Given the description of an element on the screen output the (x, y) to click on. 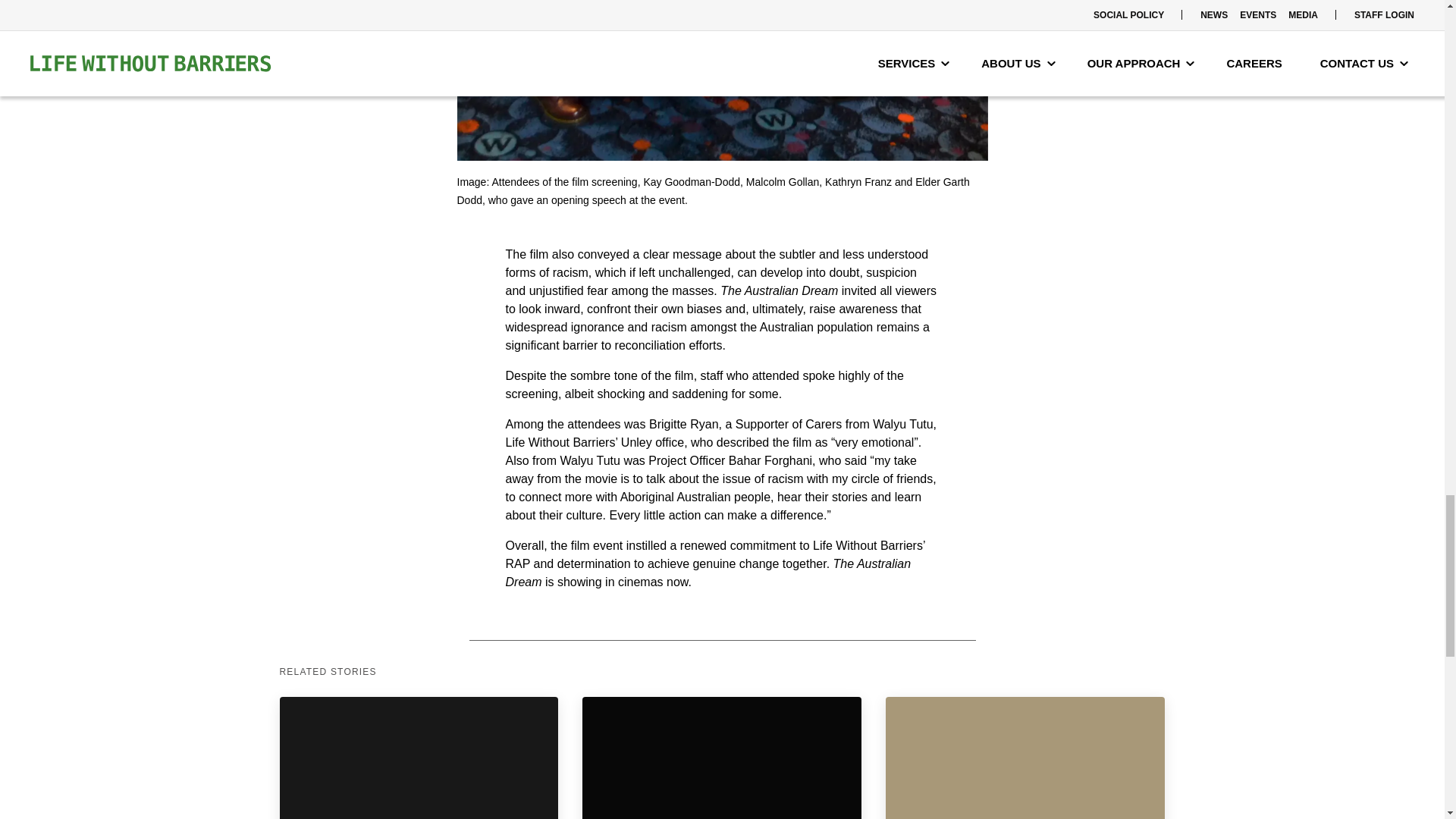
Celebrate NAIDOC Week 2024 with Life Without Barriers (1024, 757)
